Given the description of an element on the screen output the (x, y) to click on. 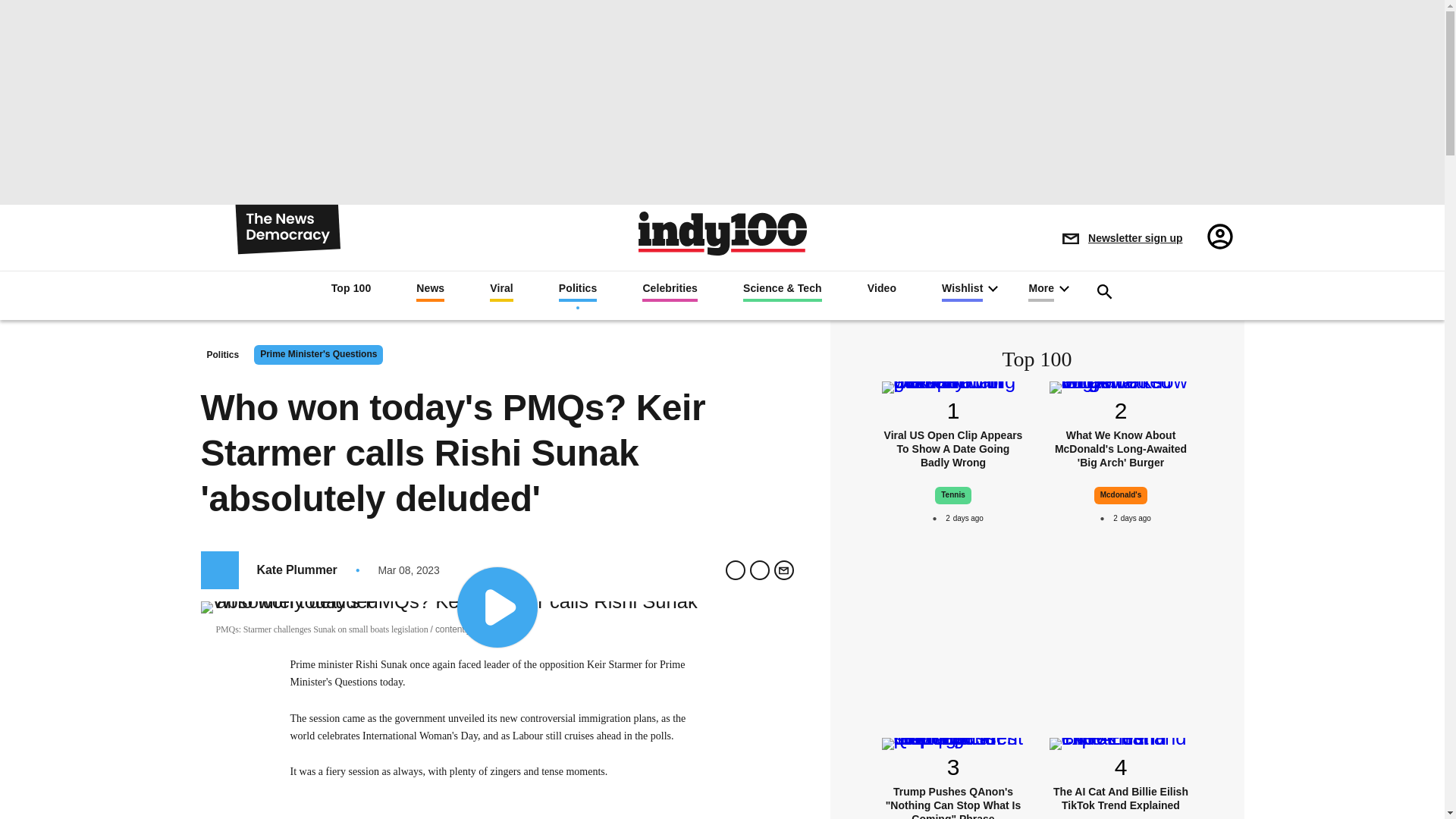
Celebrities (669, 291)
Indy100 logo (722, 232)
News (430, 291)
Politics (577, 291)
Newsletter sign up (1122, 238)
Top 100 (351, 289)
Viral (501, 291)
